Given the description of an element on the screen output the (x, y) to click on. 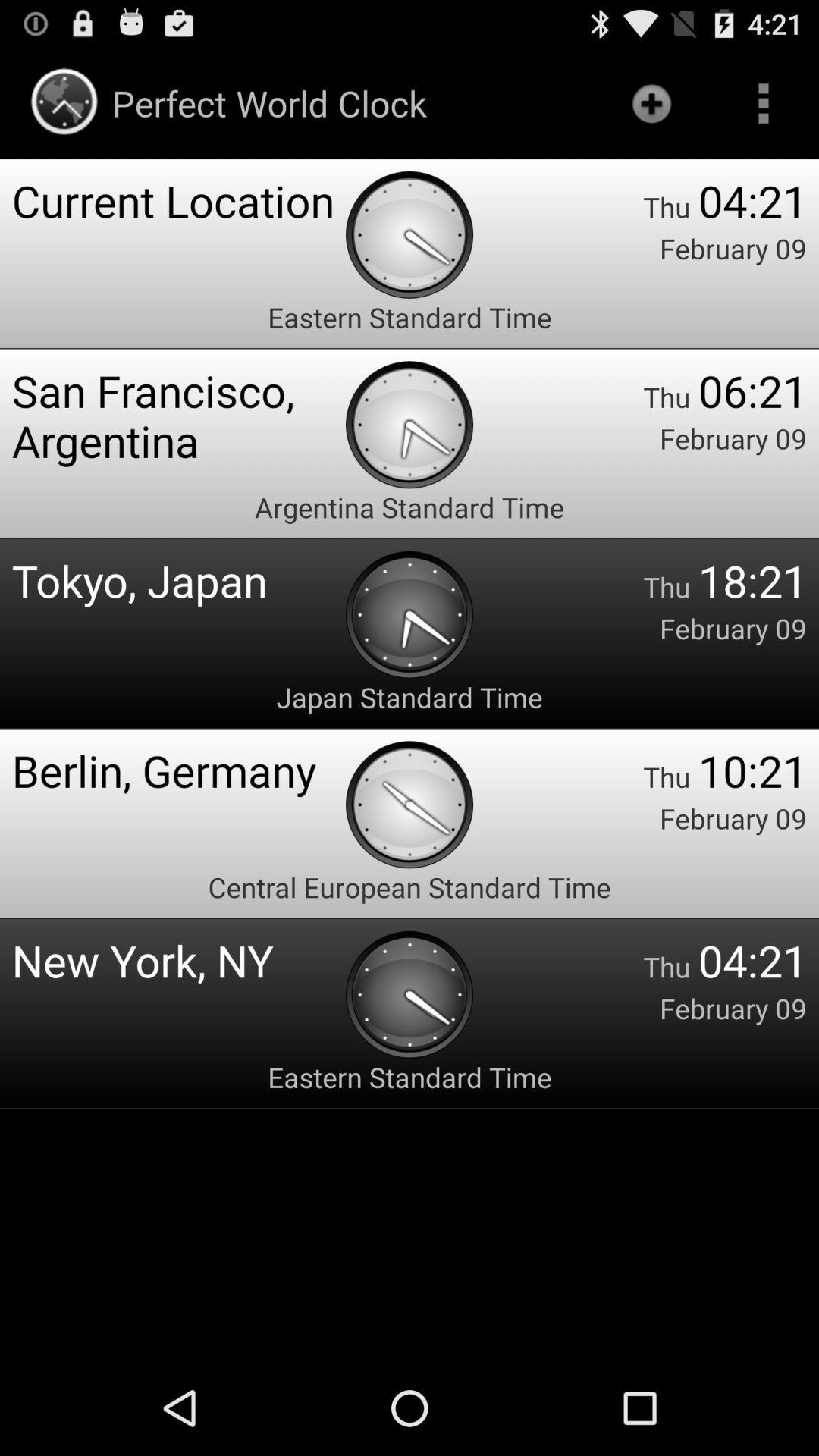
swipe until current location (178, 200)
